Given the description of an element on the screen output the (x, y) to click on. 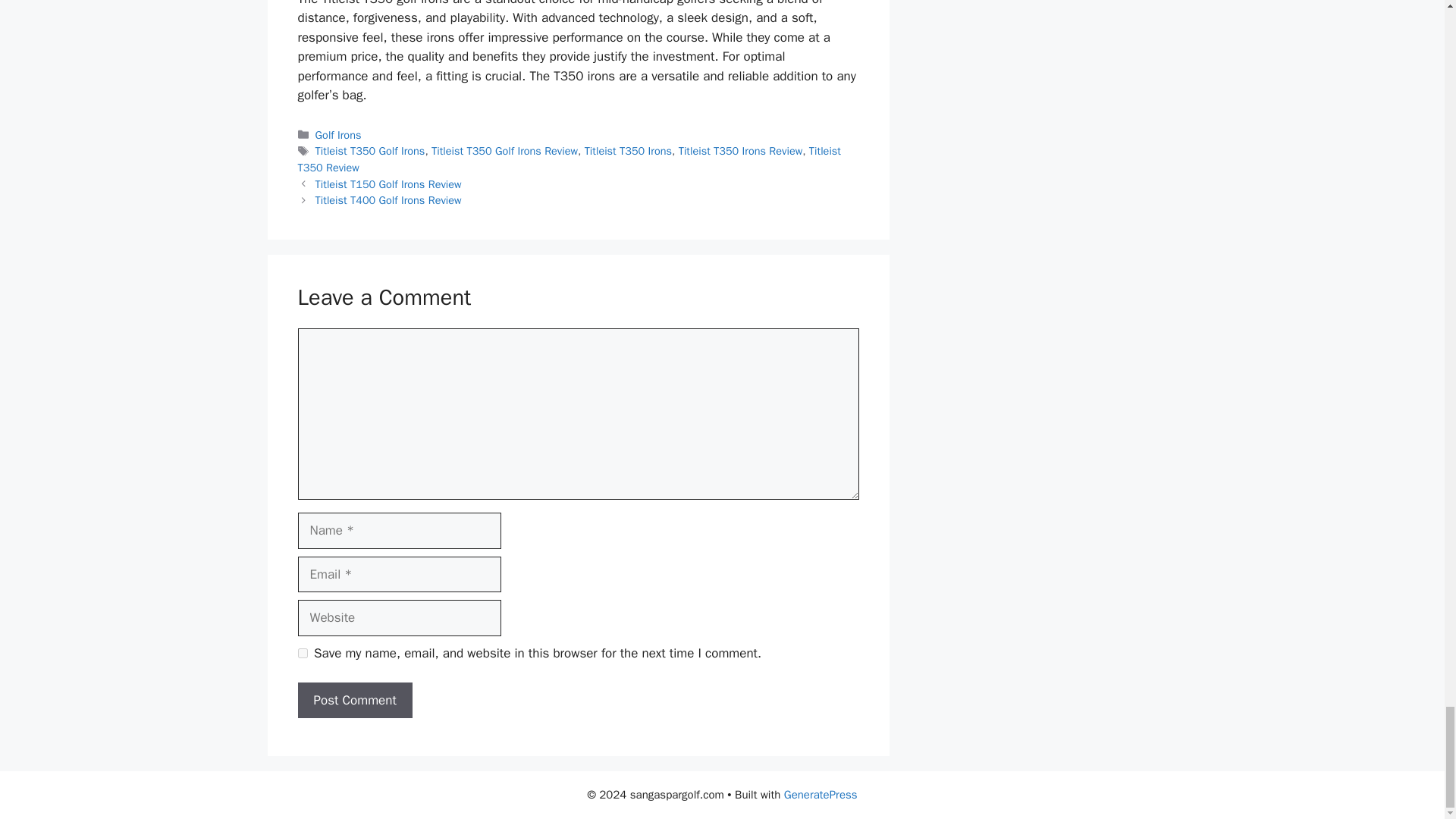
Post Comment (354, 700)
Post Comment (354, 700)
Titleist T150 Golf Irons Review (388, 183)
yes (302, 653)
Titleist T400 Golf Irons Review (388, 200)
Golf Irons (338, 134)
Titleist T350 Irons Review (740, 151)
Titleist T350 Golf Irons (370, 151)
Titleist T350 Irons (628, 151)
Titleist T350 Golf Irons Review (504, 151)
